Given the description of an element on the screen output the (x, y) to click on. 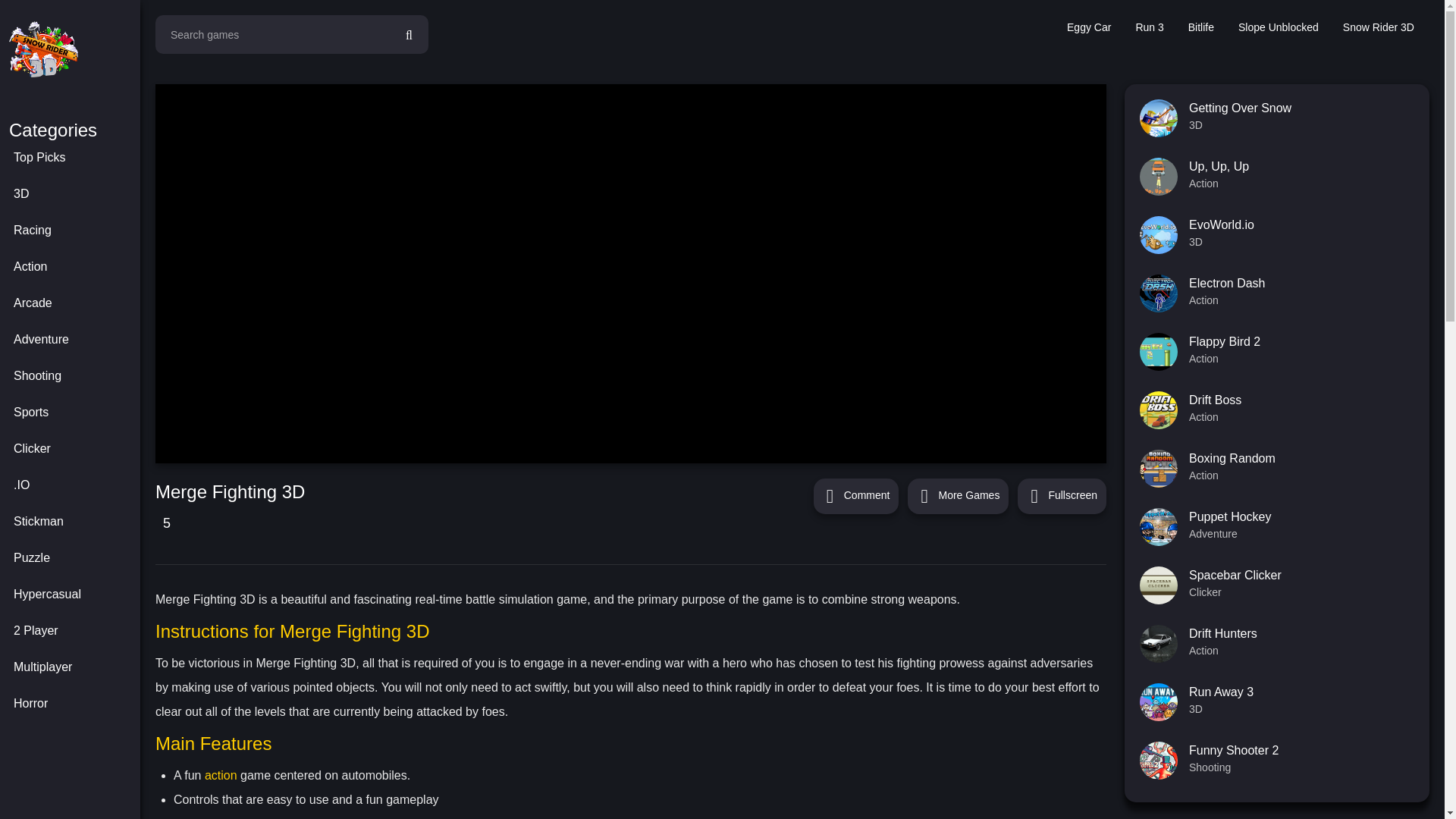
Action (73, 266)
Racing (73, 230)
Stickman (73, 521)
Adventure (73, 338)
Clicker (73, 448)
Eggy Car (1088, 27)
Sports (73, 411)
More Games (958, 496)
Top Picks (73, 157)
Slope Unblocked (1277, 27)
Fullscreen (1061, 496)
Hypercasual (73, 594)
Bitlife (1201, 27)
Comment (856, 496)
action (221, 775)
